Given the description of an element on the screen output the (x, y) to click on. 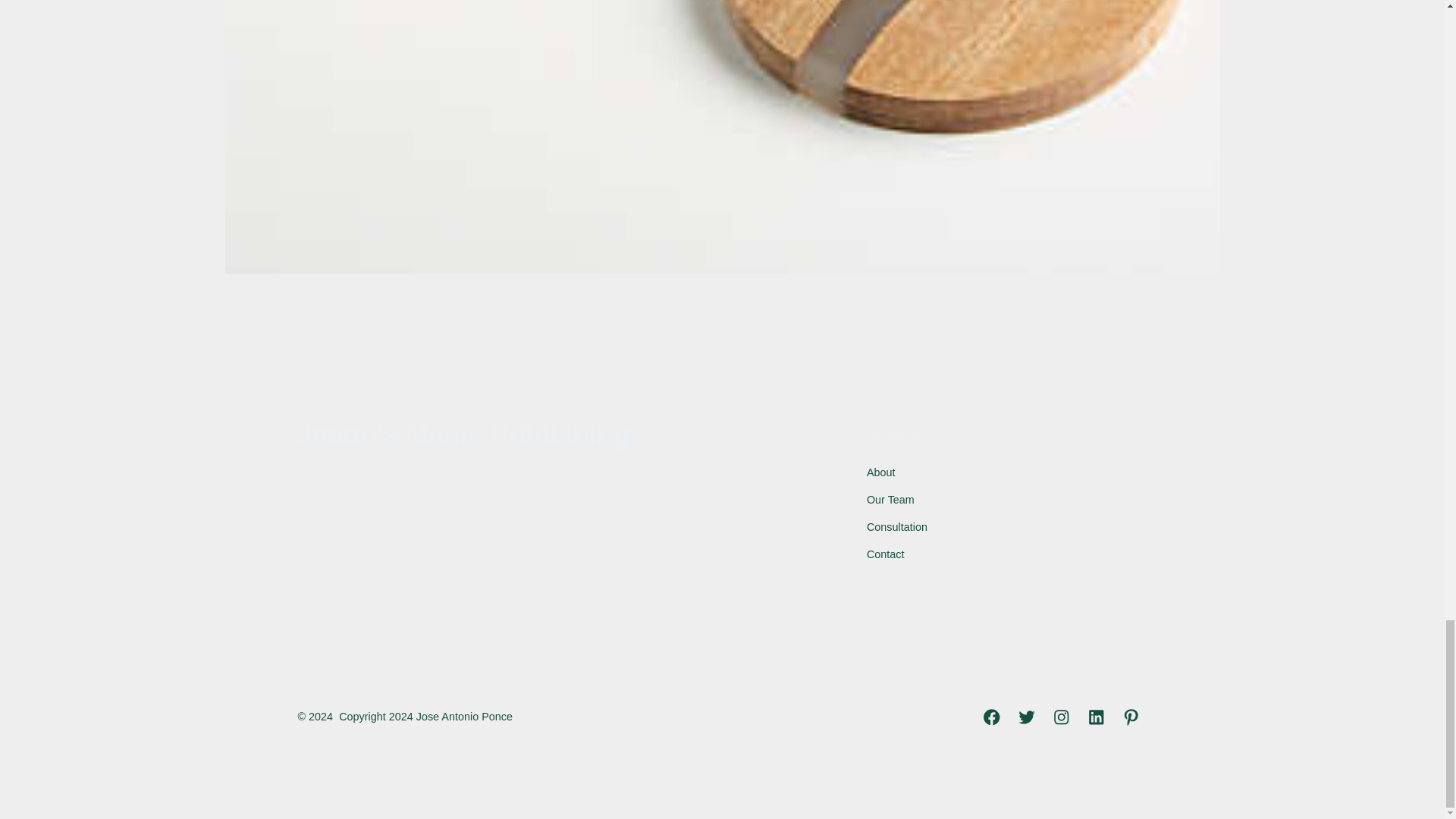
Open LinkedIn in a new tab (1096, 717)
Jason's Music Publishing (463, 435)
About (880, 472)
Open Facebook in a new tab (991, 717)
Consultation (896, 526)
Open Instagram in a new tab (1061, 717)
Our Team (890, 499)
Contact (885, 553)
Open Pinterest in a new tab (1131, 717)
Open Twitter in a new tab (1026, 717)
